Given the description of an element on the screen output the (x, y) to click on. 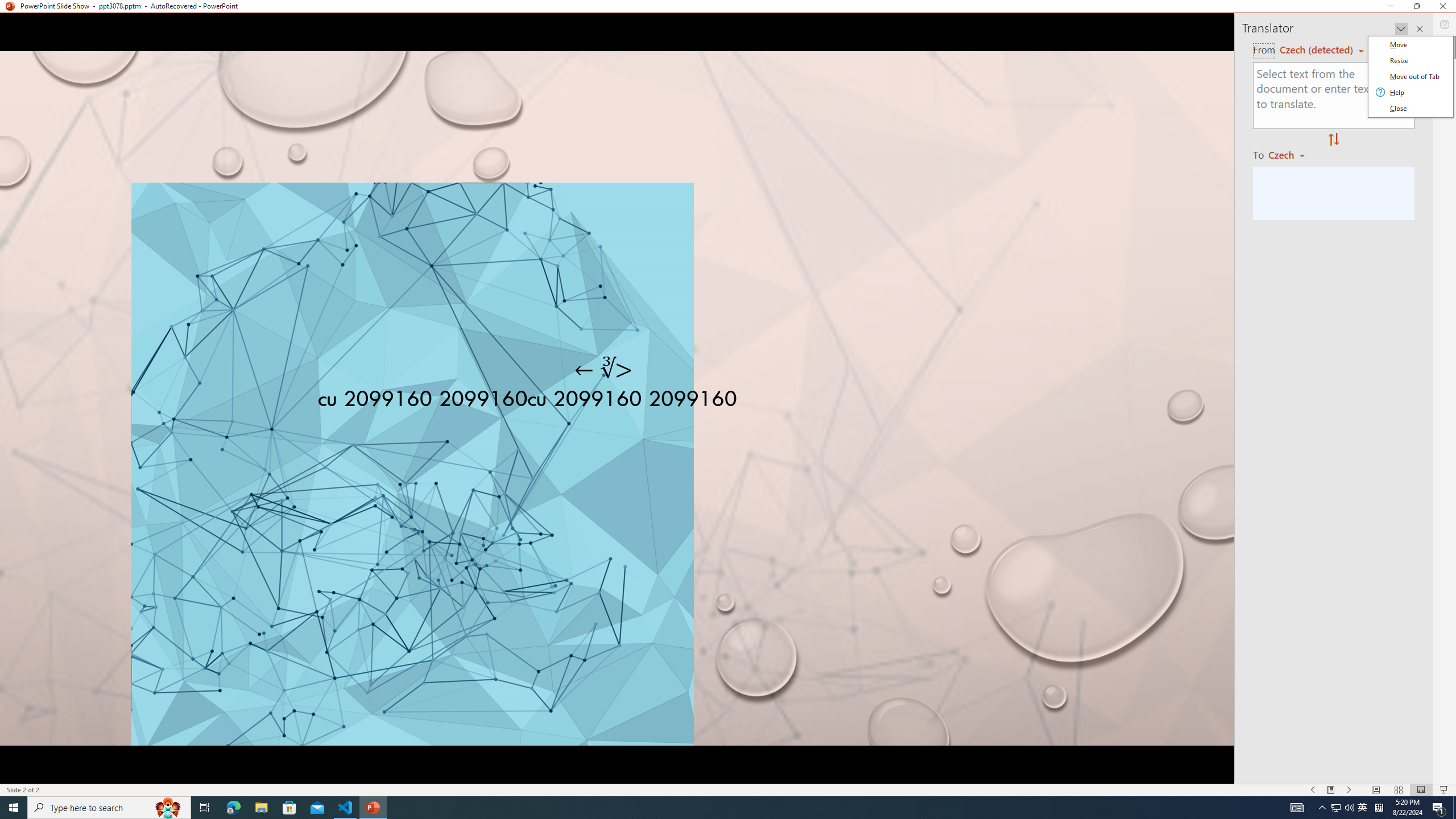
Class: Net UI Tool Window (1410, 76)
Swap "from" and "to" languages. (1333, 140)
